Given the description of an element on the screen output the (x, y) to click on. 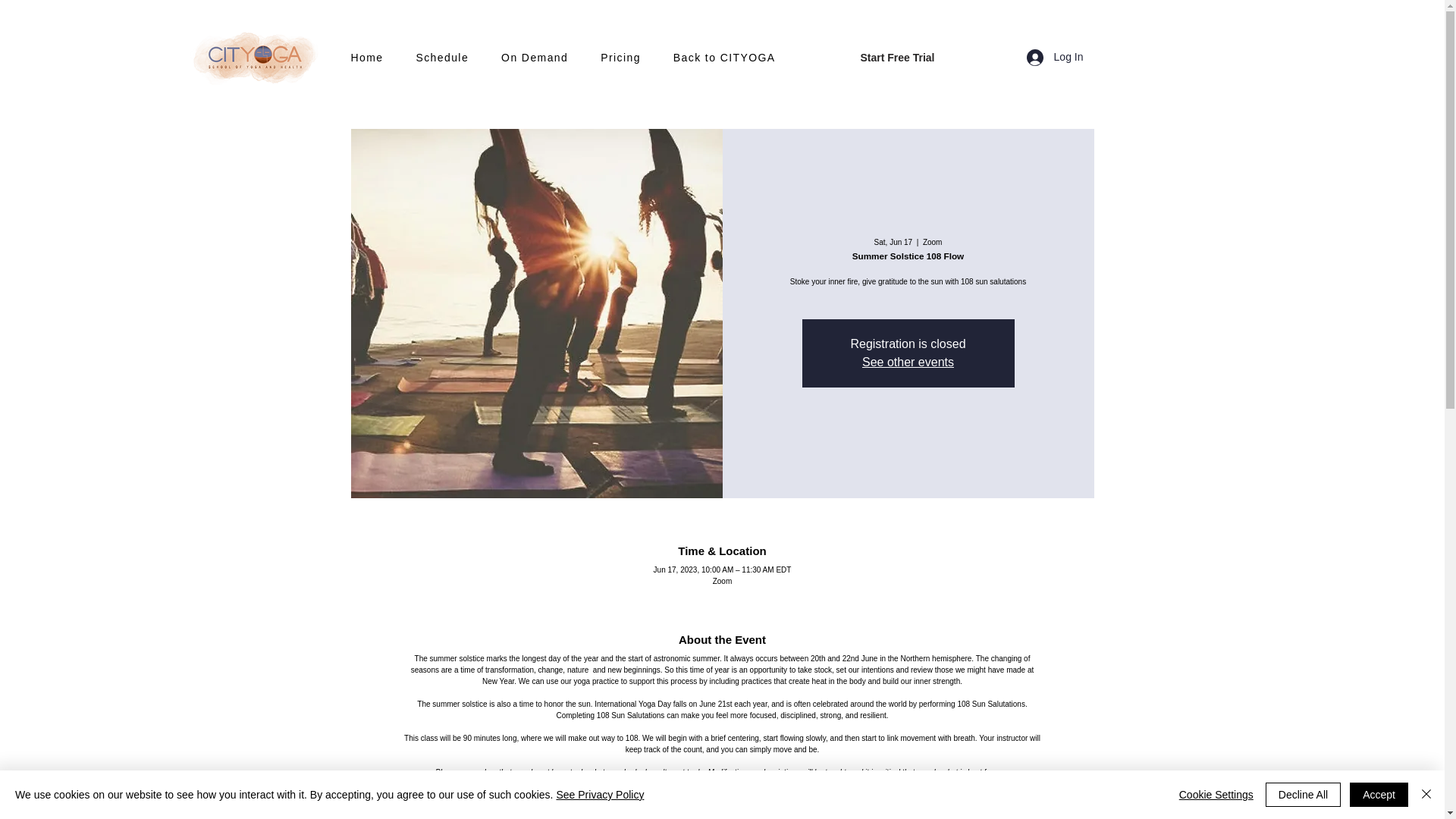
Schedule (450, 58)
See Privacy Policy (599, 794)
Accept (1378, 794)
See other events (907, 361)
Pricing (629, 58)
Log In (1055, 56)
Decline All (1302, 794)
Home (375, 58)
Start Free Trial (896, 57)
Back to CITYOGA (733, 58)
On Demand (543, 58)
